Given the description of an element on the screen output the (x, y) to click on. 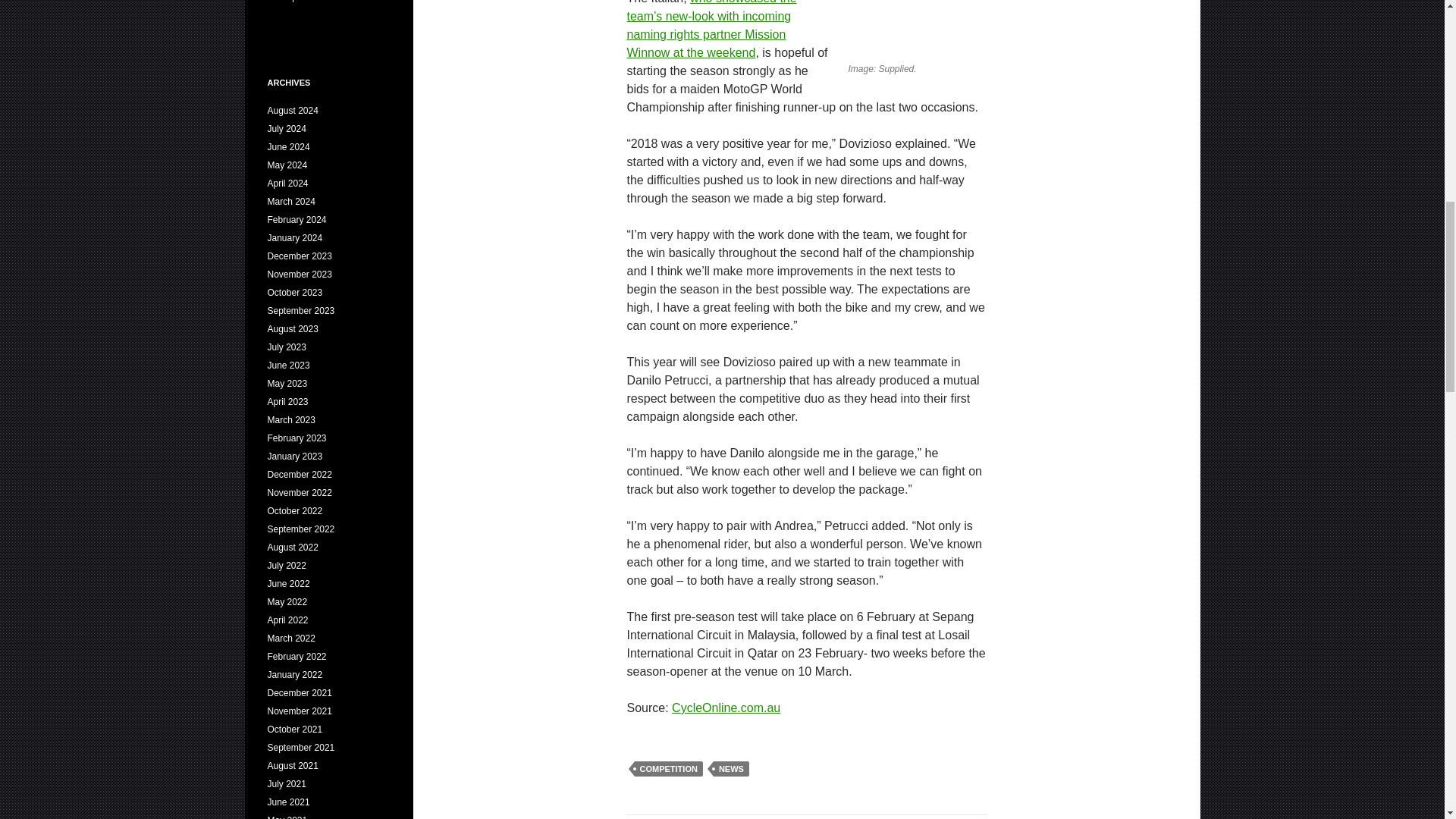
February 2024 (296, 219)
August 2024 (291, 110)
NEWS (731, 768)
April 2024 (286, 183)
COMPETITION (667, 768)
May 2024 (286, 164)
June 2024 (287, 146)
January 2024 (293, 237)
July 2024 (285, 128)
CycleOnline.com.au (725, 707)
March 2024 (290, 201)
